Given the description of an element on the screen output the (x, y) to click on. 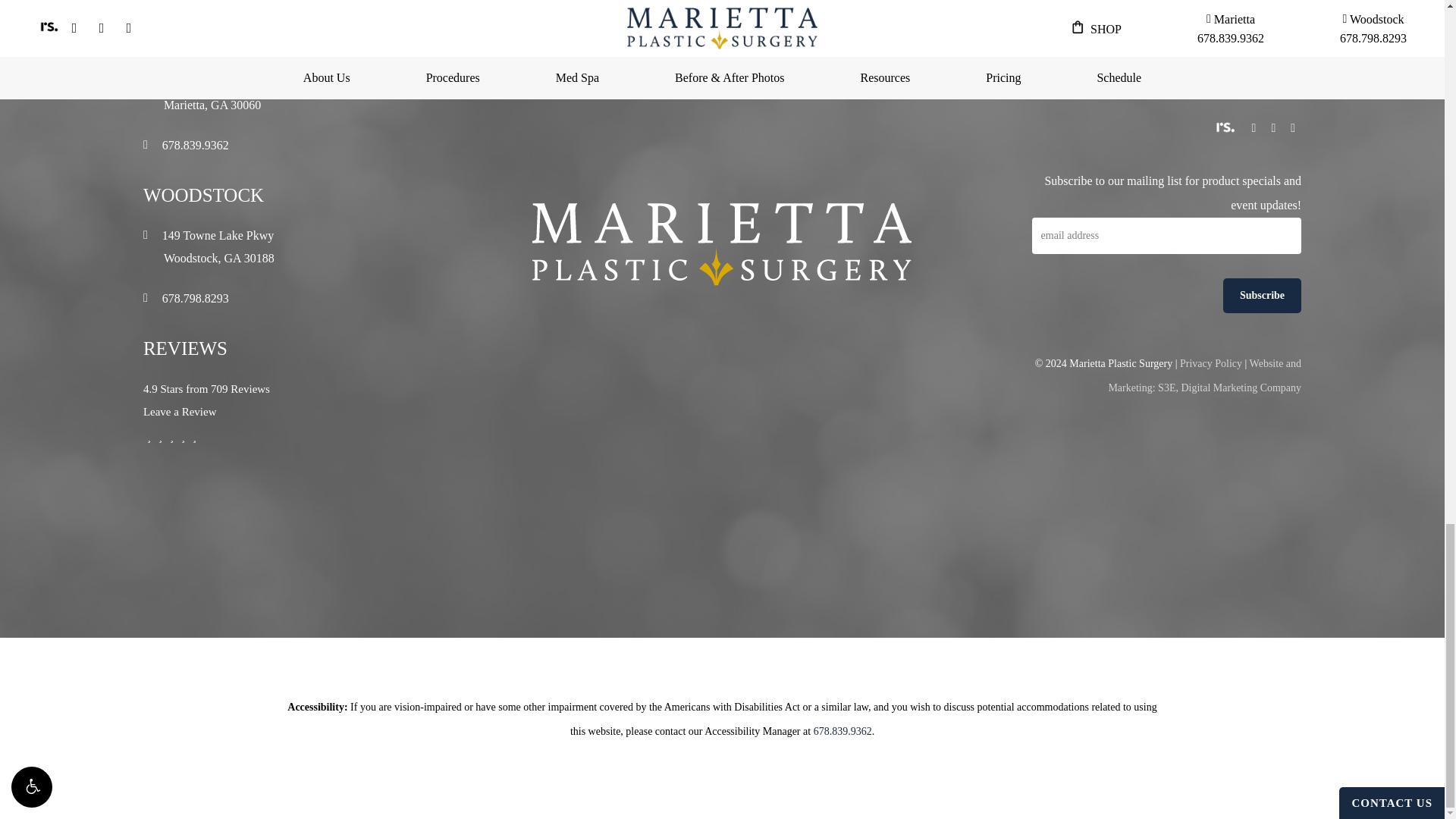
Subscribe (1262, 295)
